Given the description of an element on the screen output the (x, y) to click on. 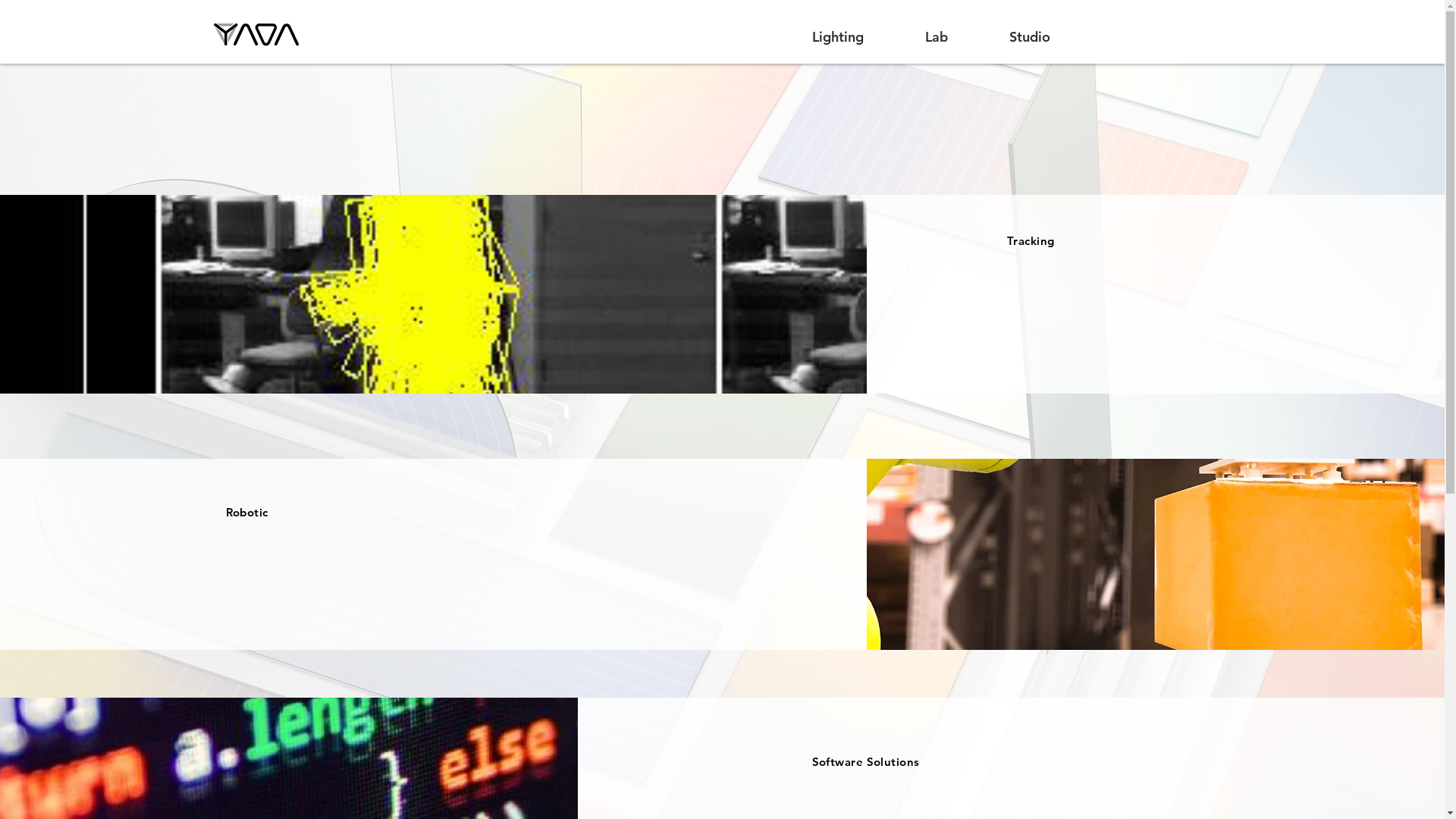
Lighting Element type: text (850, 35)
Studio Element type: text (1042, 35)
Lab Element type: text (950, 35)
